Given the description of an element on the screen output the (x, y) to click on. 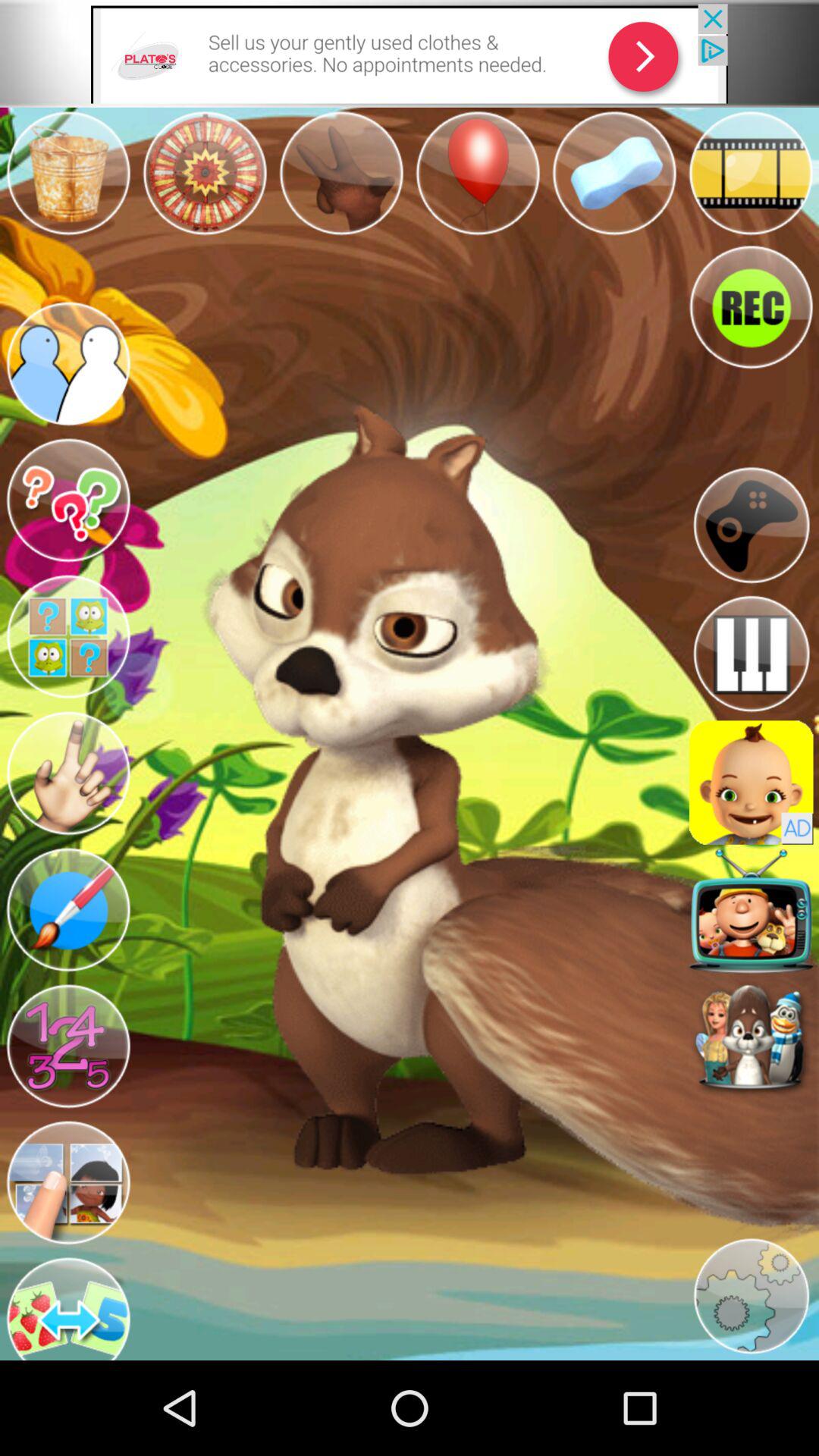
activate paint brush icon (68, 909)
